Given the description of an element on the screen output the (x, y) to click on. 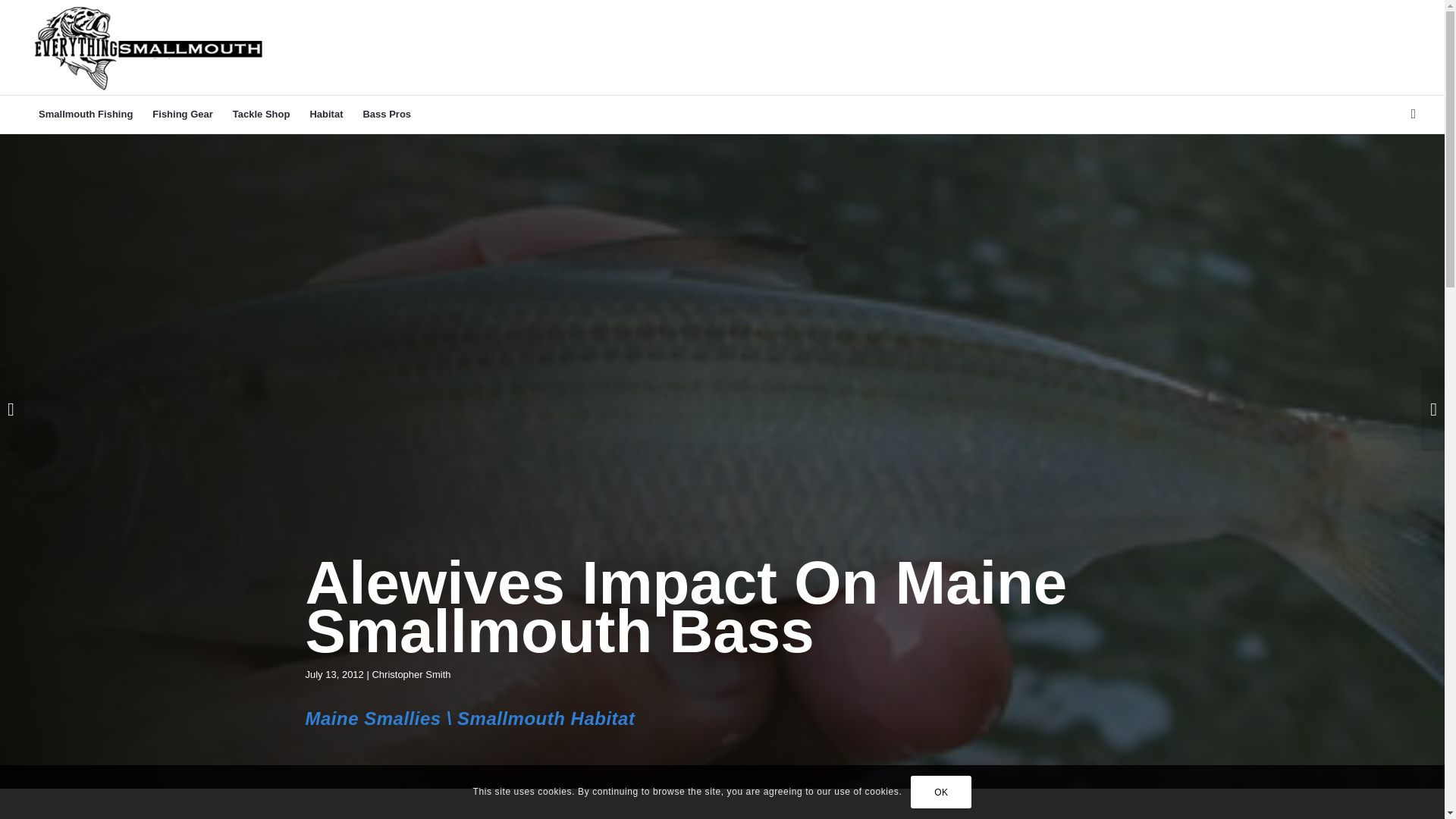
Habitat (325, 114)
OK (941, 791)
Bass Pros (386, 114)
Fishing Gear (182, 114)
Tackle Shop (260, 114)
Smallmouth Fishing (85, 114)
